Given the description of an element on the screen output the (x, y) to click on. 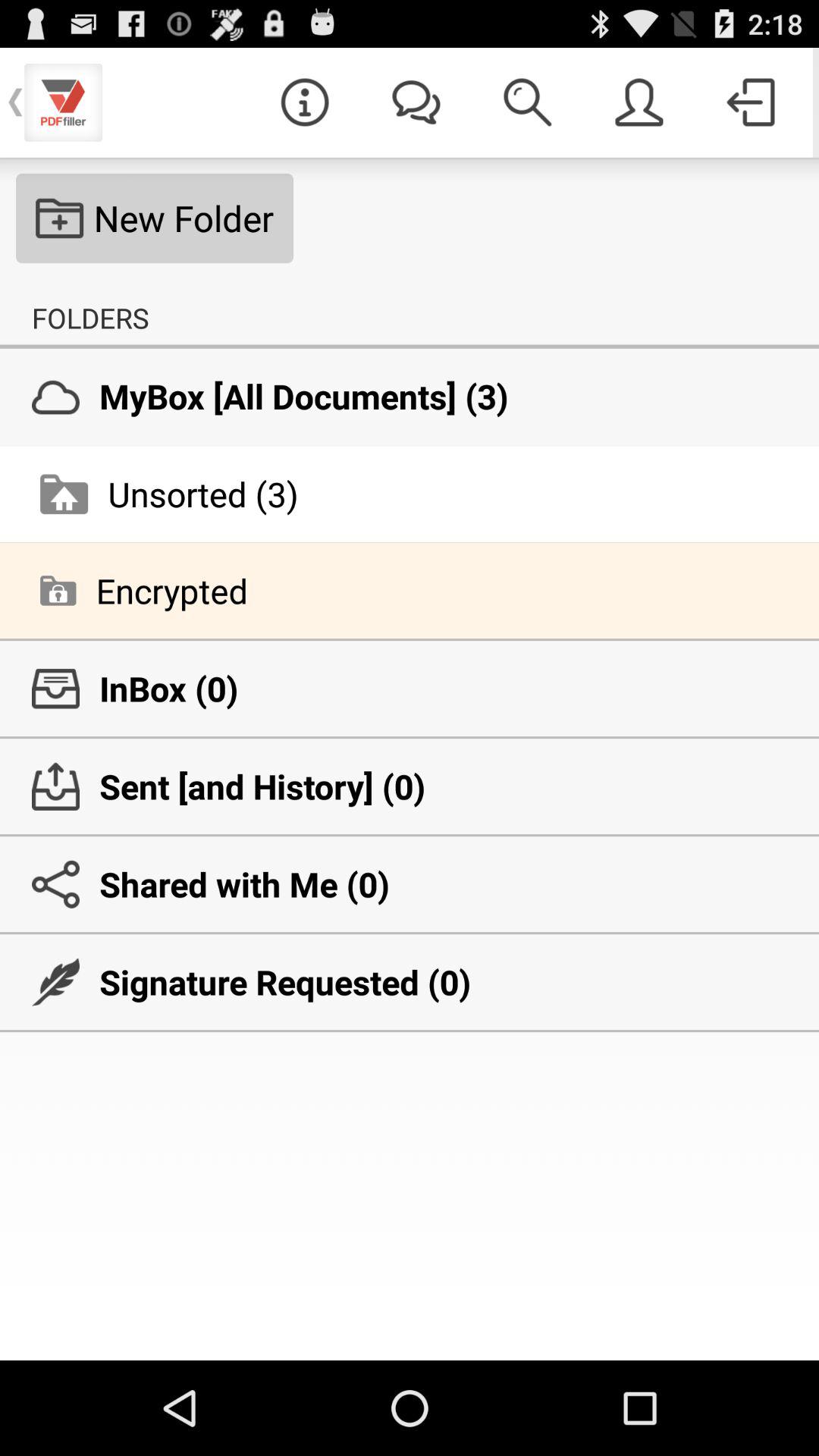
jump to the sent and history (409, 786)
